Given the description of an element on the screen output the (x, y) to click on. 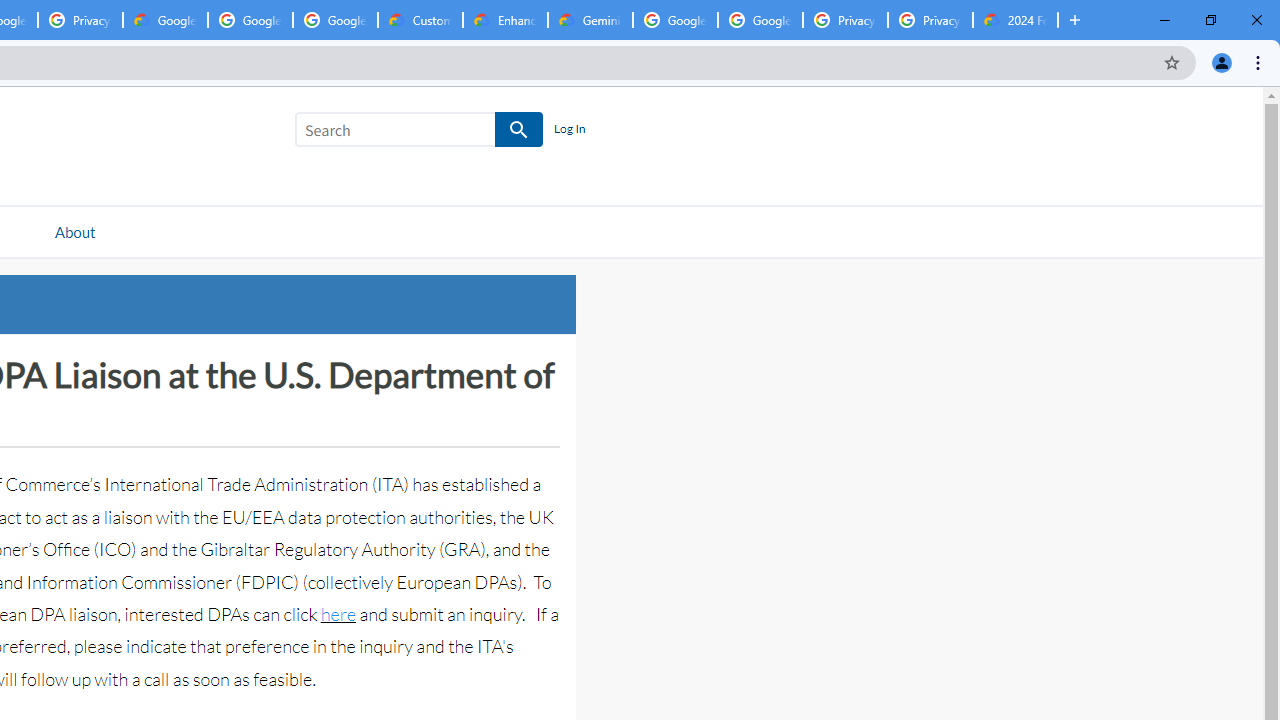
Search SEARCH (419, 133)
About (74, 231)
Enhanced Support | Google Cloud (505, 20)
Google Cloud Platform (675, 20)
AutomationID: navitem2 (74, 231)
